Given the description of an element on the screen output the (x, y) to click on. 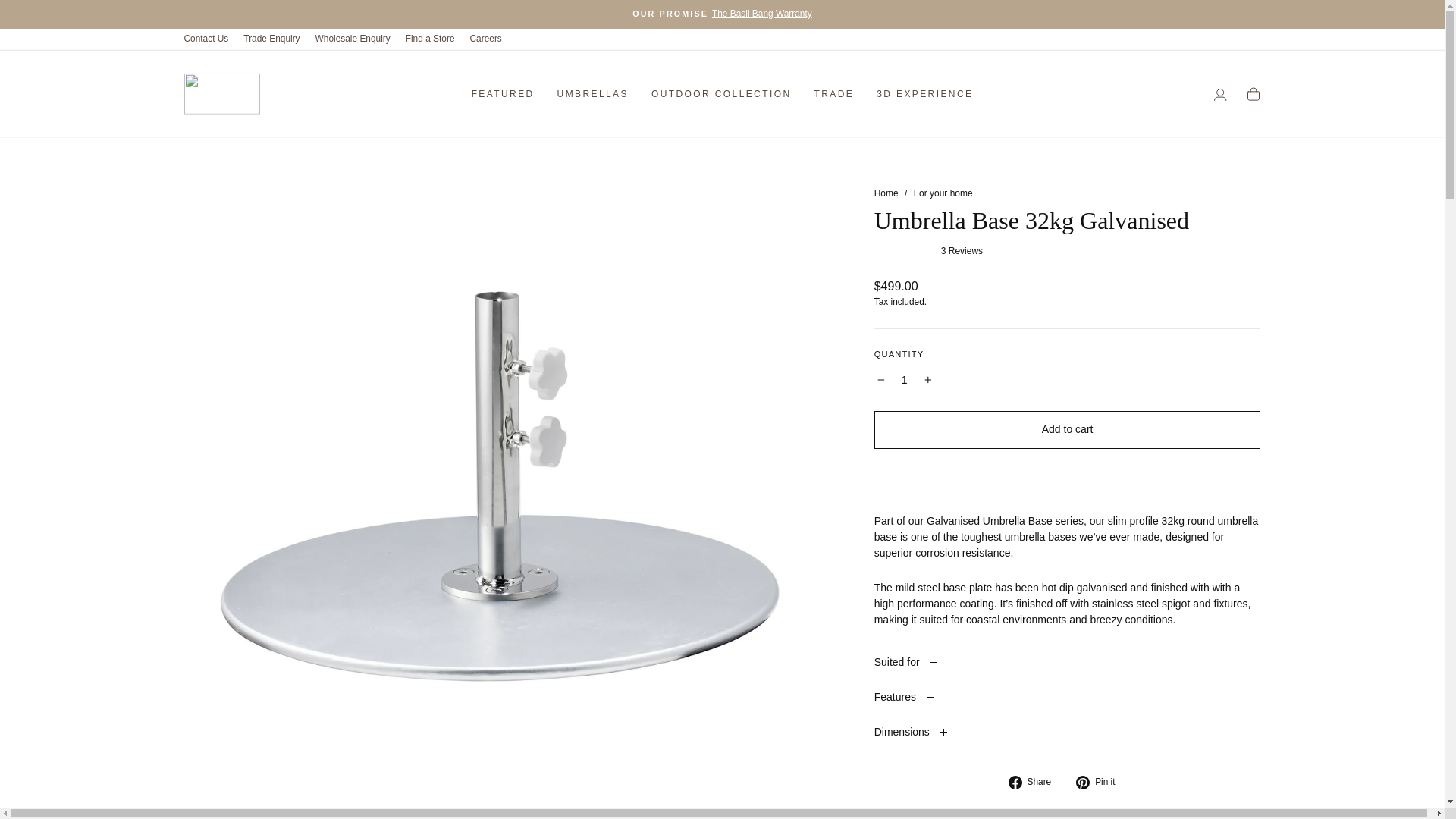
Share on Facebook (1035, 781)
Pin on Pinterest (1100, 781)
Back to the frontpage (886, 193)
OUR PROMISEThe Basil Bang Warranty (722, 14)
1 (904, 380)
